Given the description of an element on the screen output the (x, y) to click on. 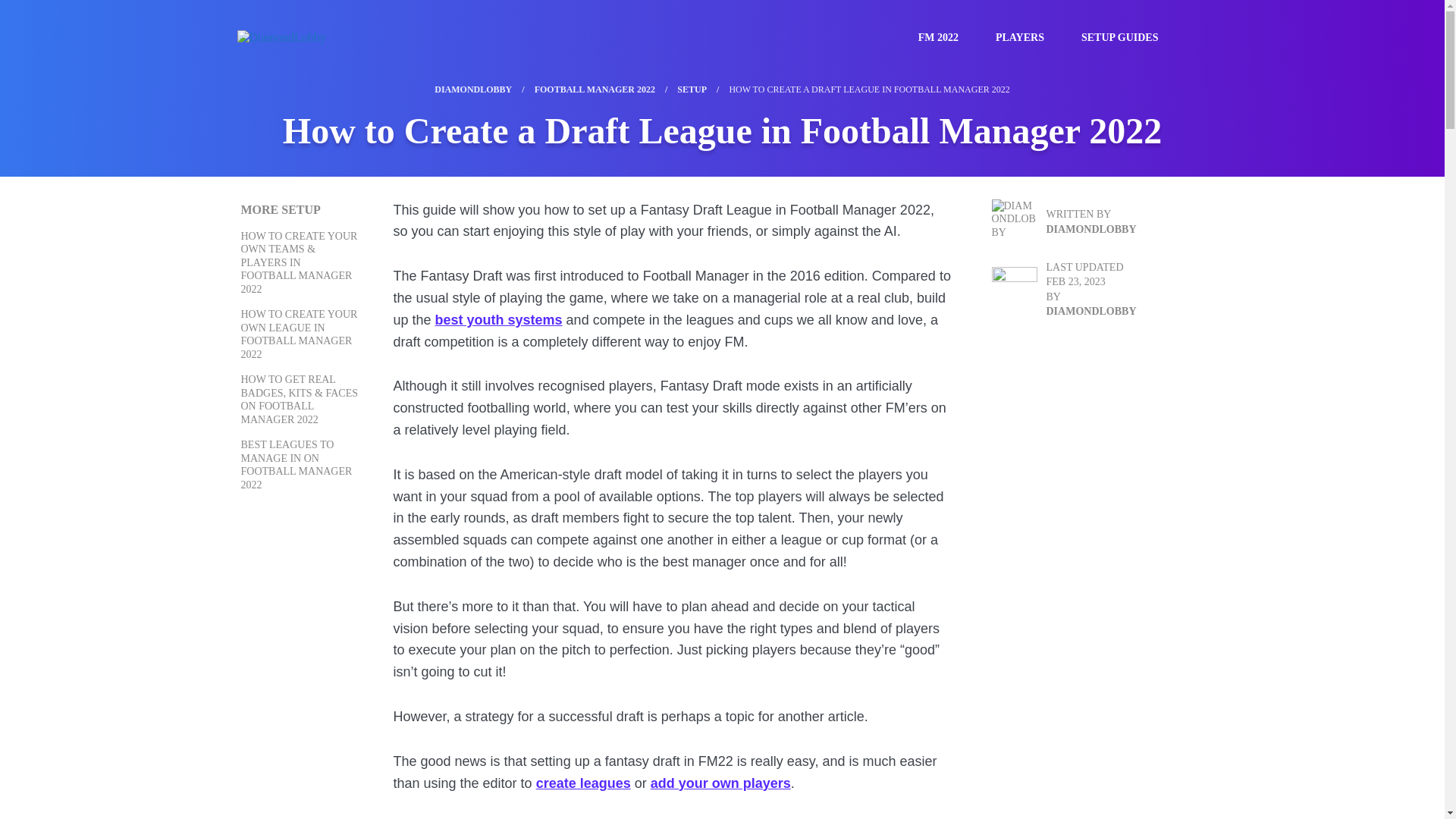
DiamondLobby (279, 36)
PLAYERS (1027, 37)
DIAMONDLOBBY (472, 89)
best youth systems (498, 319)
SETUP GUIDES (1127, 37)
SETUP (691, 89)
DIAMONDLOBBY (1091, 310)
create leagues (582, 783)
FM 2022 (946, 37)
FOOTBALL MANAGER 2022 (594, 89)
DiamondLobby (279, 37)
add your own players (720, 783)
DIAMONDLOBBY (1091, 229)
BEST LEAGUES TO MANAGE IN ON FOOTBALL MANAGER 2022 (296, 464)
HOW TO CREATE YOUR OWN LEAGUE IN FOOTBALL MANAGER 2022 (299, 334)
